Given the description of an element on the screen output the (x, y) to click on. 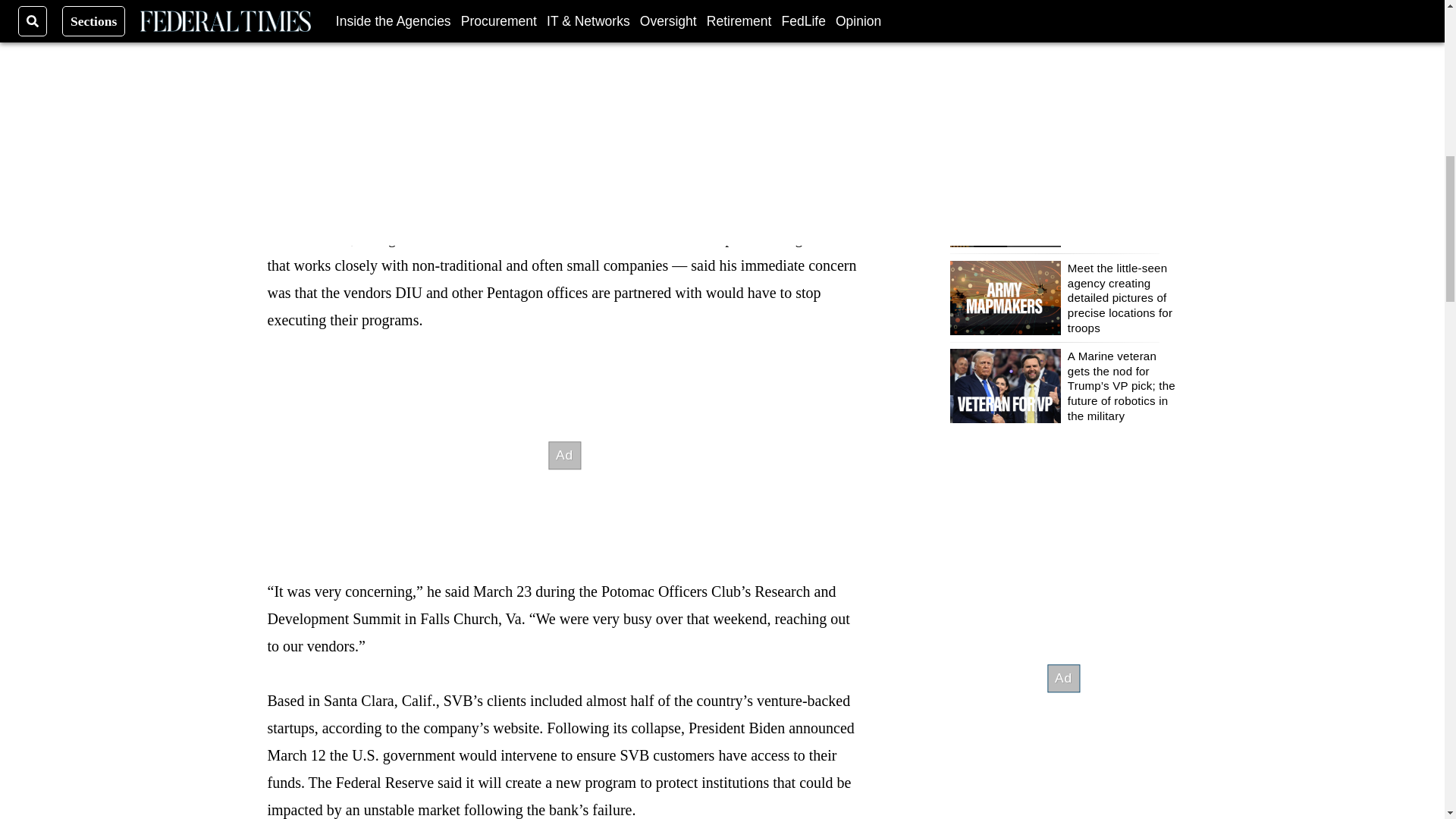
3rd party ad content (563, 455)
